Given the description of an element on the screen output the (x, y) to click on. 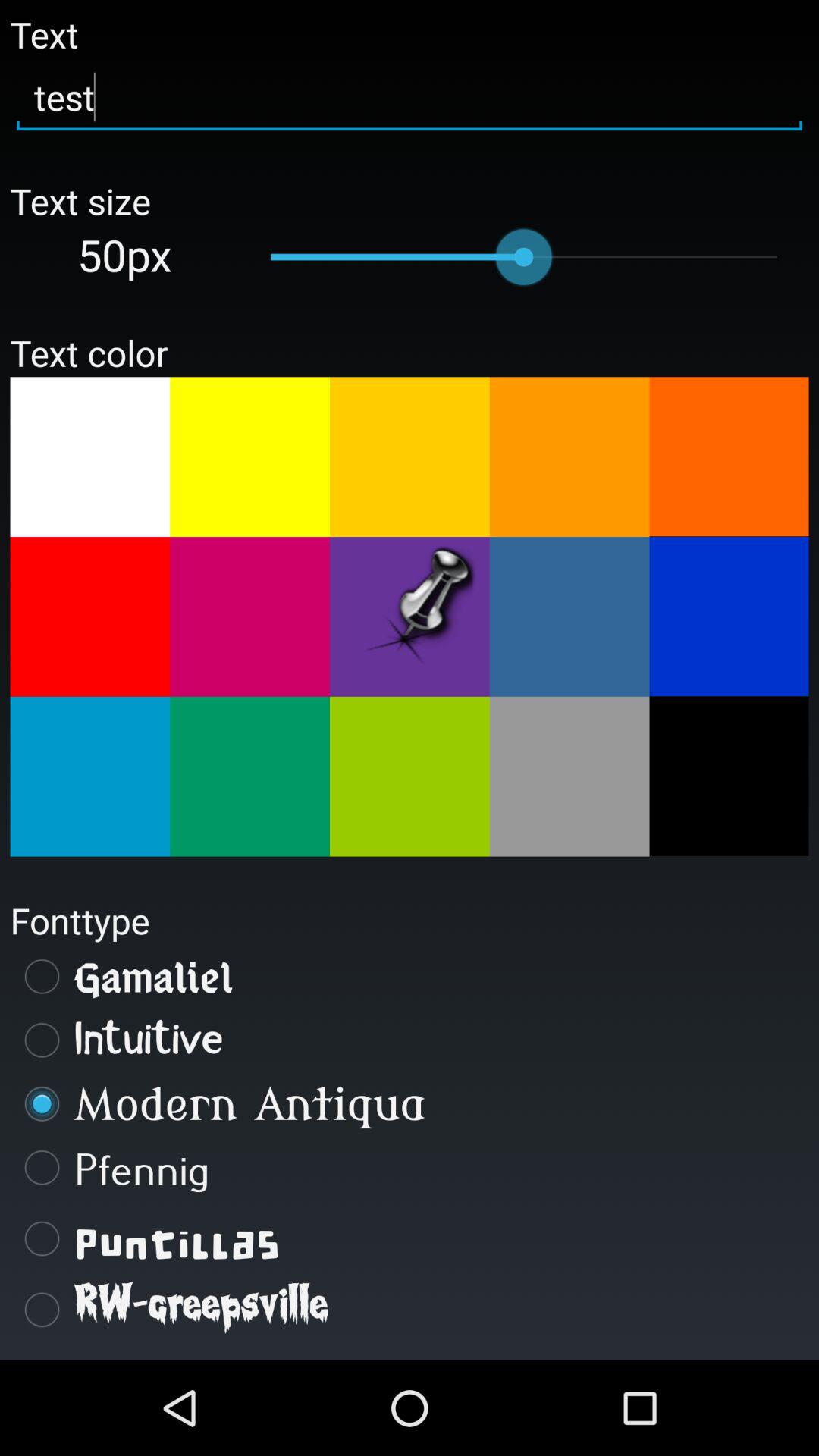
select text color white (90, 456)
